Given the description of an element on the screen output the (x, y) to click on. 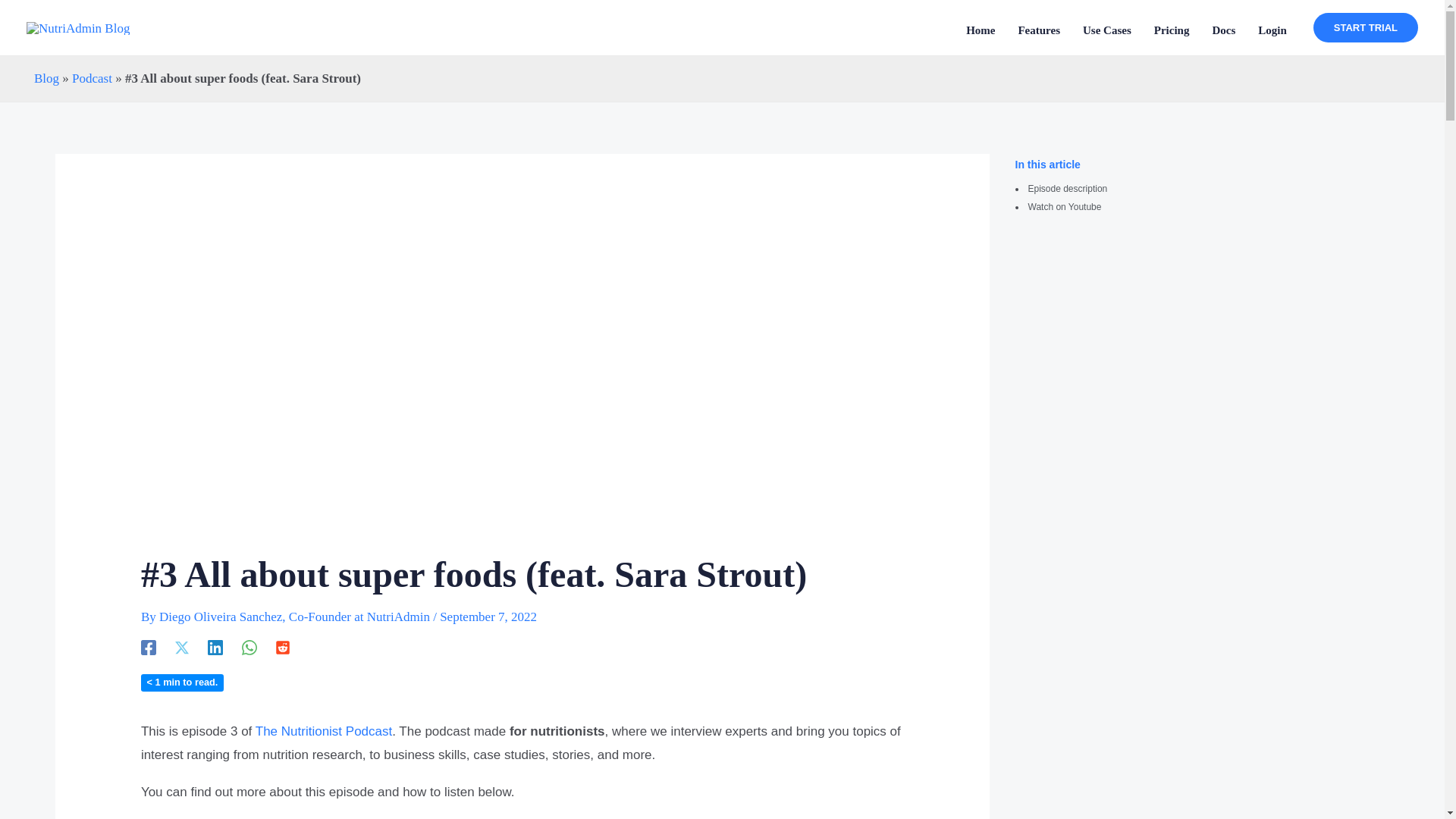
Pricing (1171, 29)
START TRIAL (1365, 27)
Home (980, 29)
Login (1272, 29)
Podcast (91, 78)
Blog (46, 78)
Use Cases (1106, 29)
Docs (1222, 29)
The Nutritionist Podcast (323, 730)
Features (1038, 29)
